Given the description of an element on the screen output the (x, y) to click on. 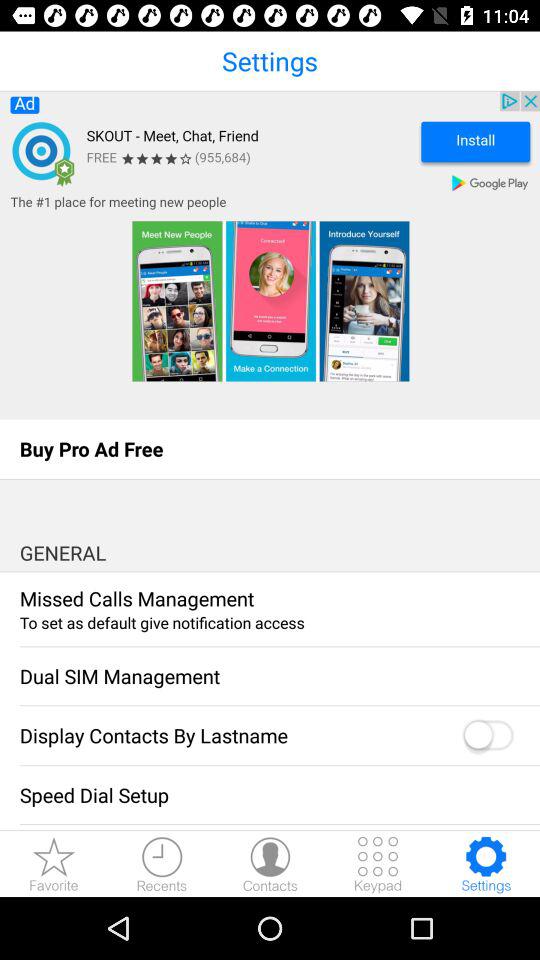
toggle display contacts by lastname (487, 736)
